Given the description of an element on the screen output the (x, y) to click on. 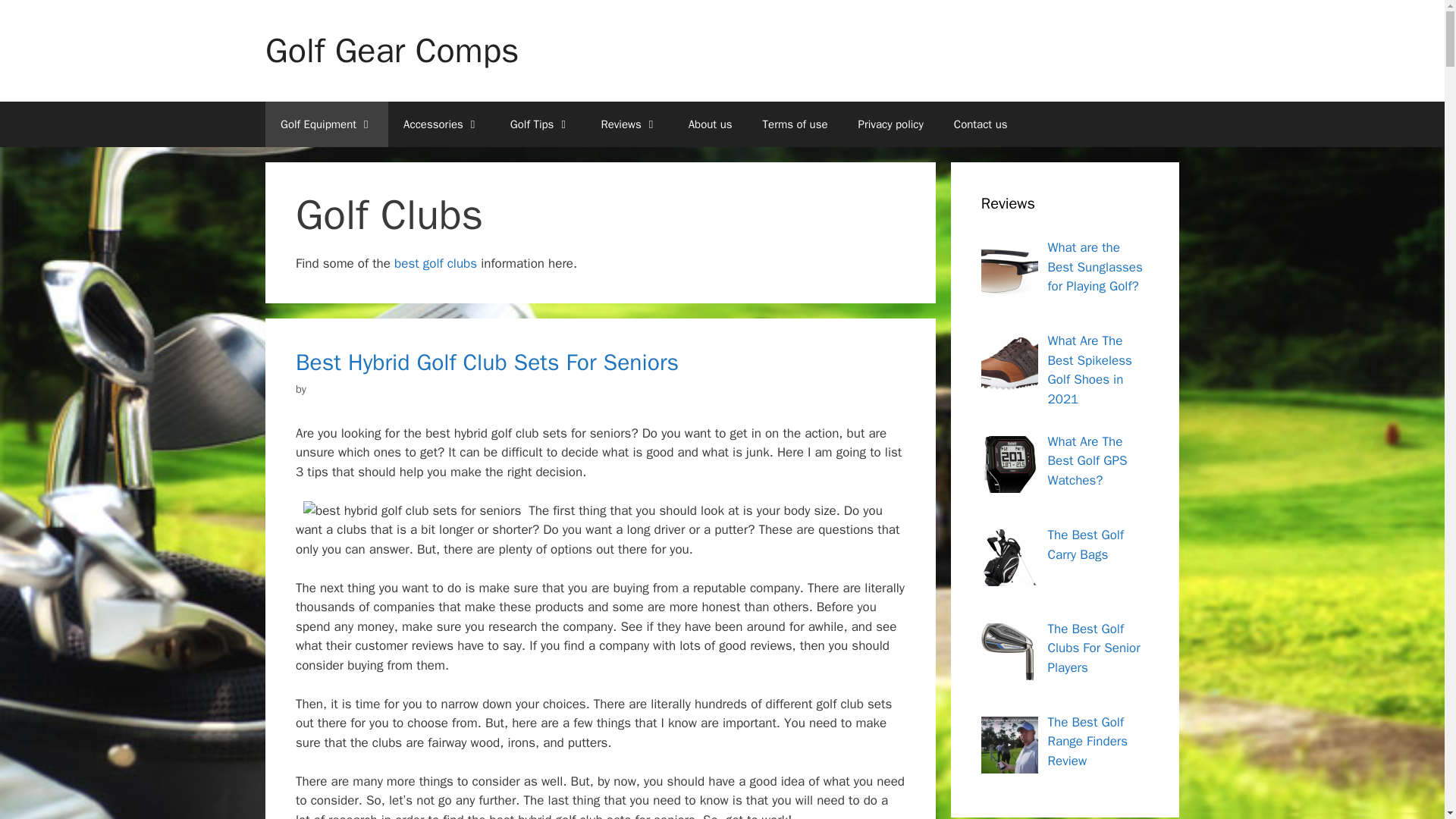
Privacy policy (891, 124)
Golf Tips (540, 124)
About us (710, 124)
Contact us (981, 124)
Golf Gear Comps (391, 50)
Best Hybrid Golf Club Sets For Seniors (486, 362)
Accessories (441, 124)
Reviews (628, 124)
Golf Equipment (326, 124)
Terms of use (795, 124)
best golf clubs (435, 262)
